Given the description of an element on the screen output the (x, y) to click on. 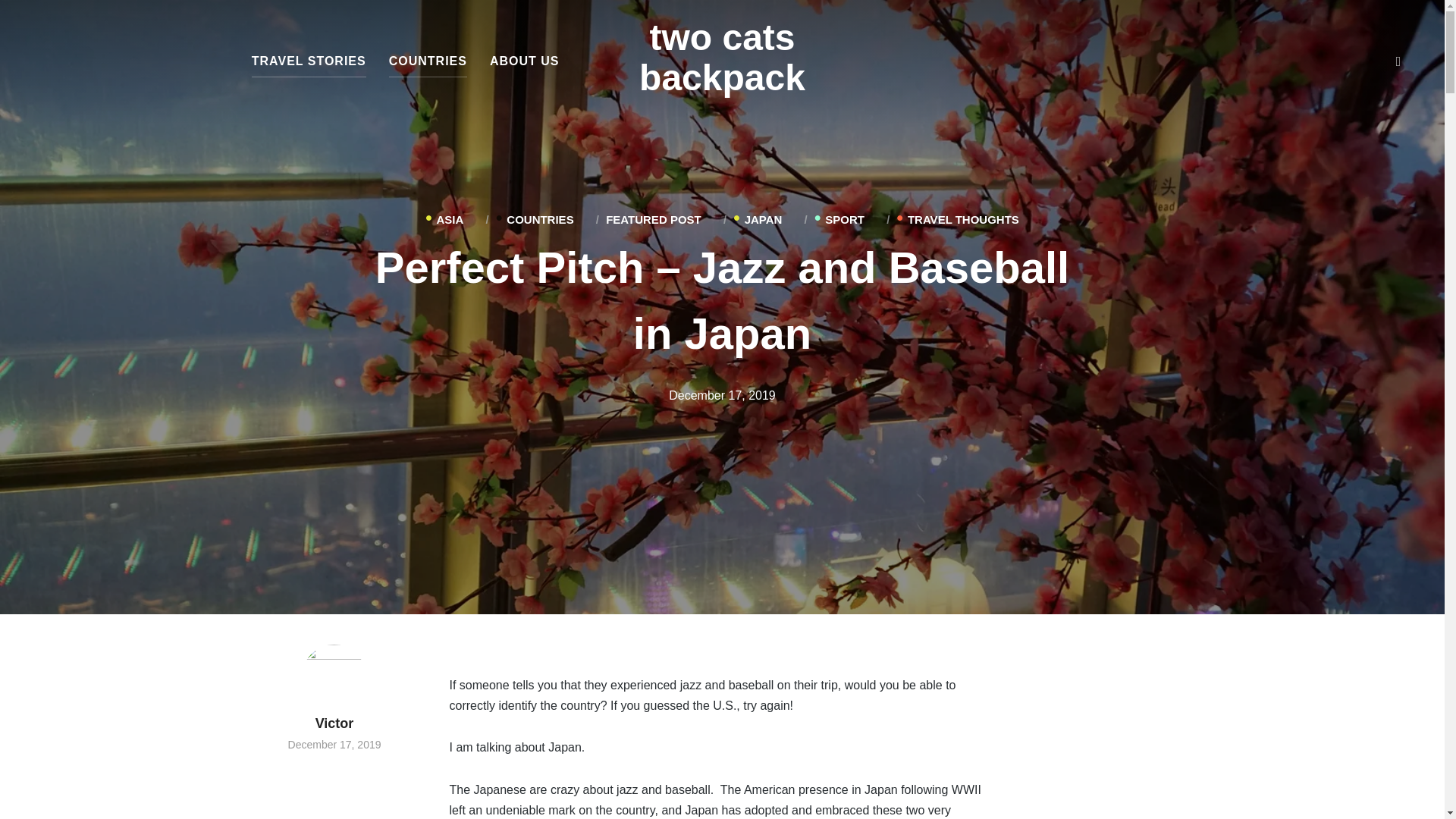
Posts by Victor (334, 687)
